Given the description of an element on the screen output the (x, y) to click on. 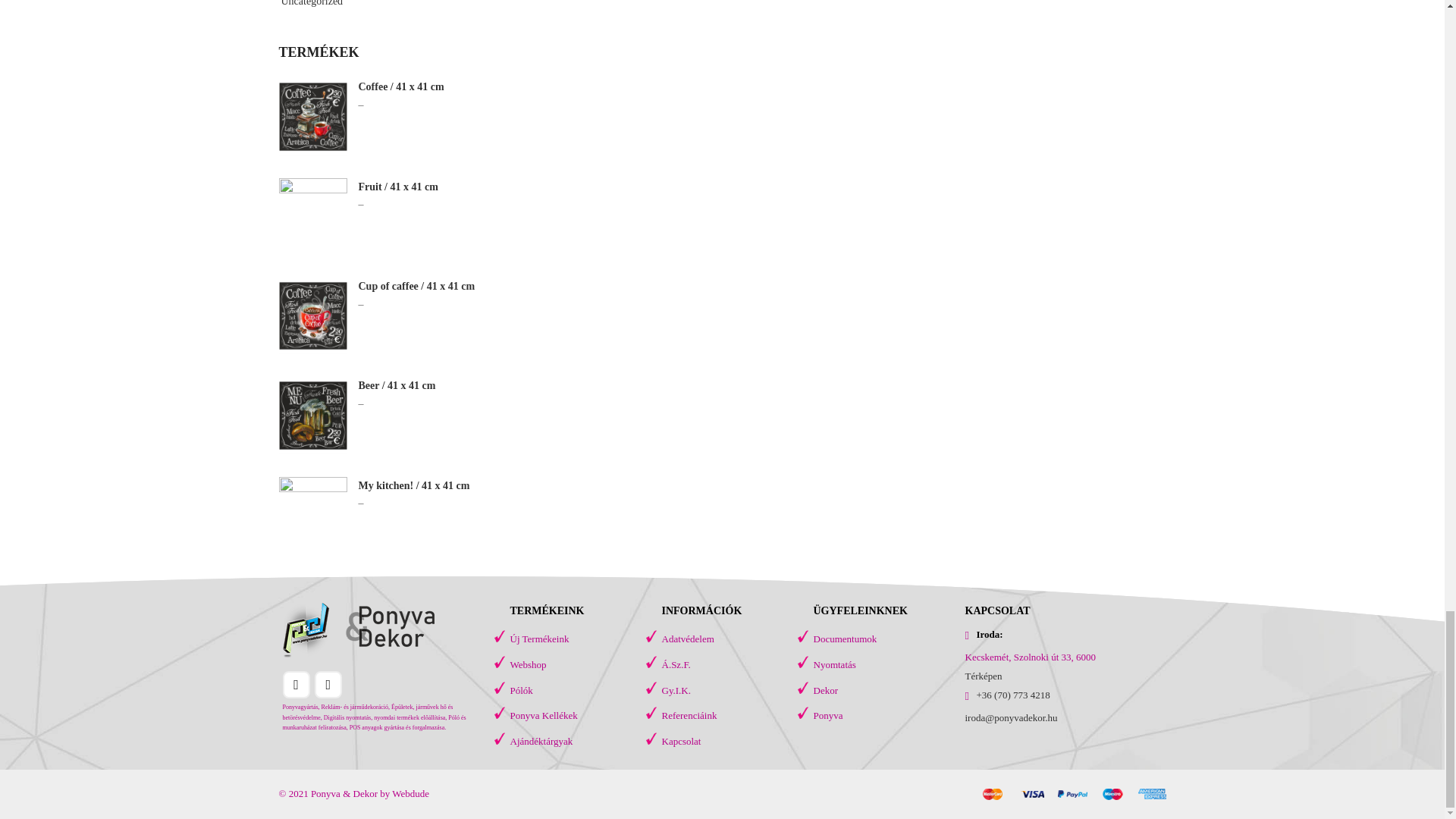
payments (1074, 794)
ponyva dekor logo w200 (357, 629)
